Given the description of an element on the screen output the (x, y) to click on. 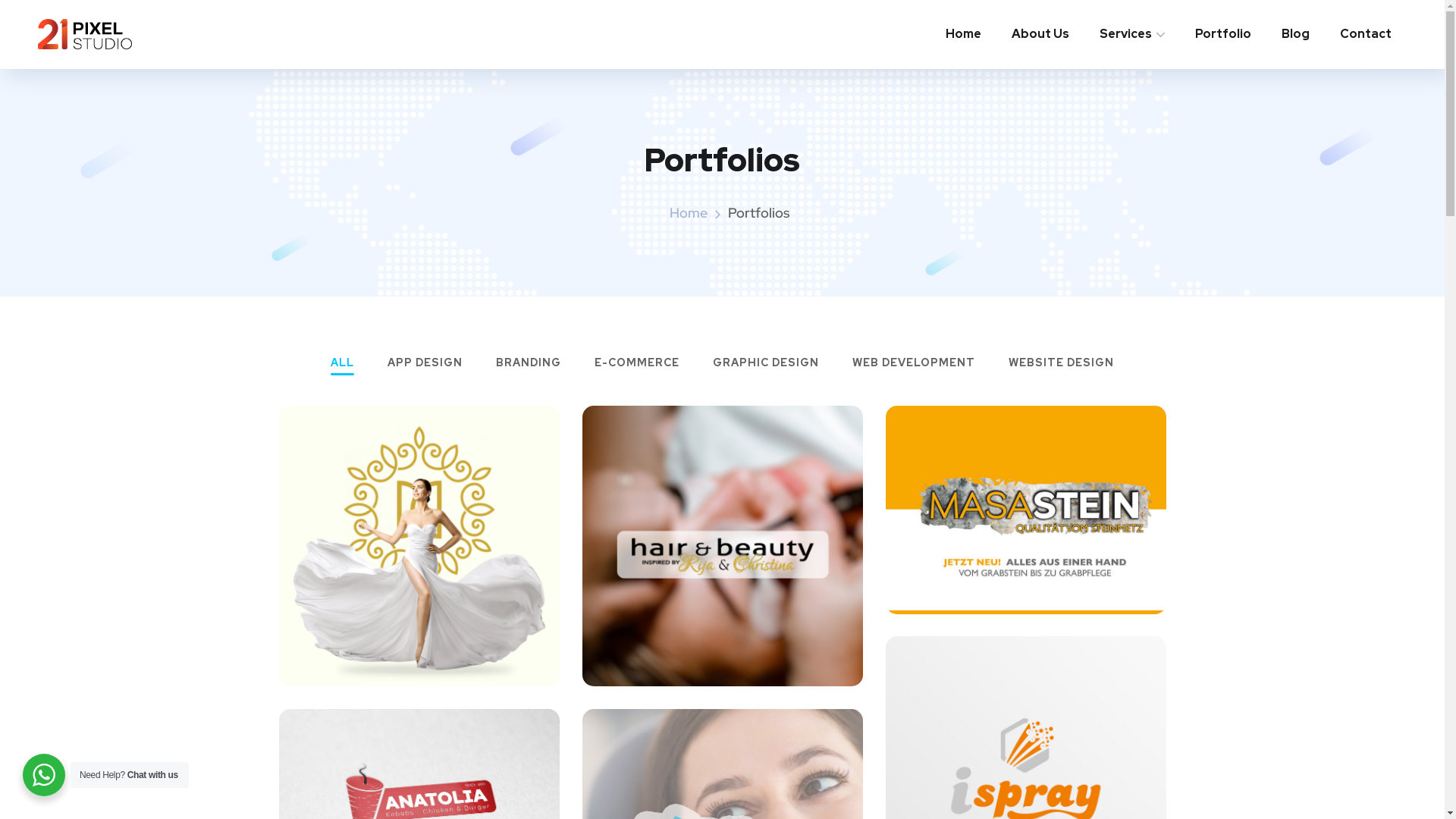
APP DESIGN Element type: text (424, 366)
E-COMMERCE Element type: text (636, 366)
BRANDING Element type: text (528, 366)
ALL Element type: text (342, 366)
Contact Element type: text (1365, 33)
Portfolio Element type: text (1223, 33)
Blog Element type: text (1295, 33)
GRAPHIC DESIGN Element type: text (765, 366)
Home Element type: text (963, 33)
About Us Element type: text (1040, 33)
WEB DEVELOPMENT Element type: text (913, 366)
WEBSITE DESIGN Element type: text (1060, 366)
Home Element type: text (687, 212)
Services Element type: text (1131, 33)
